Given the description of an element on the screen output the (x, y) to click on. 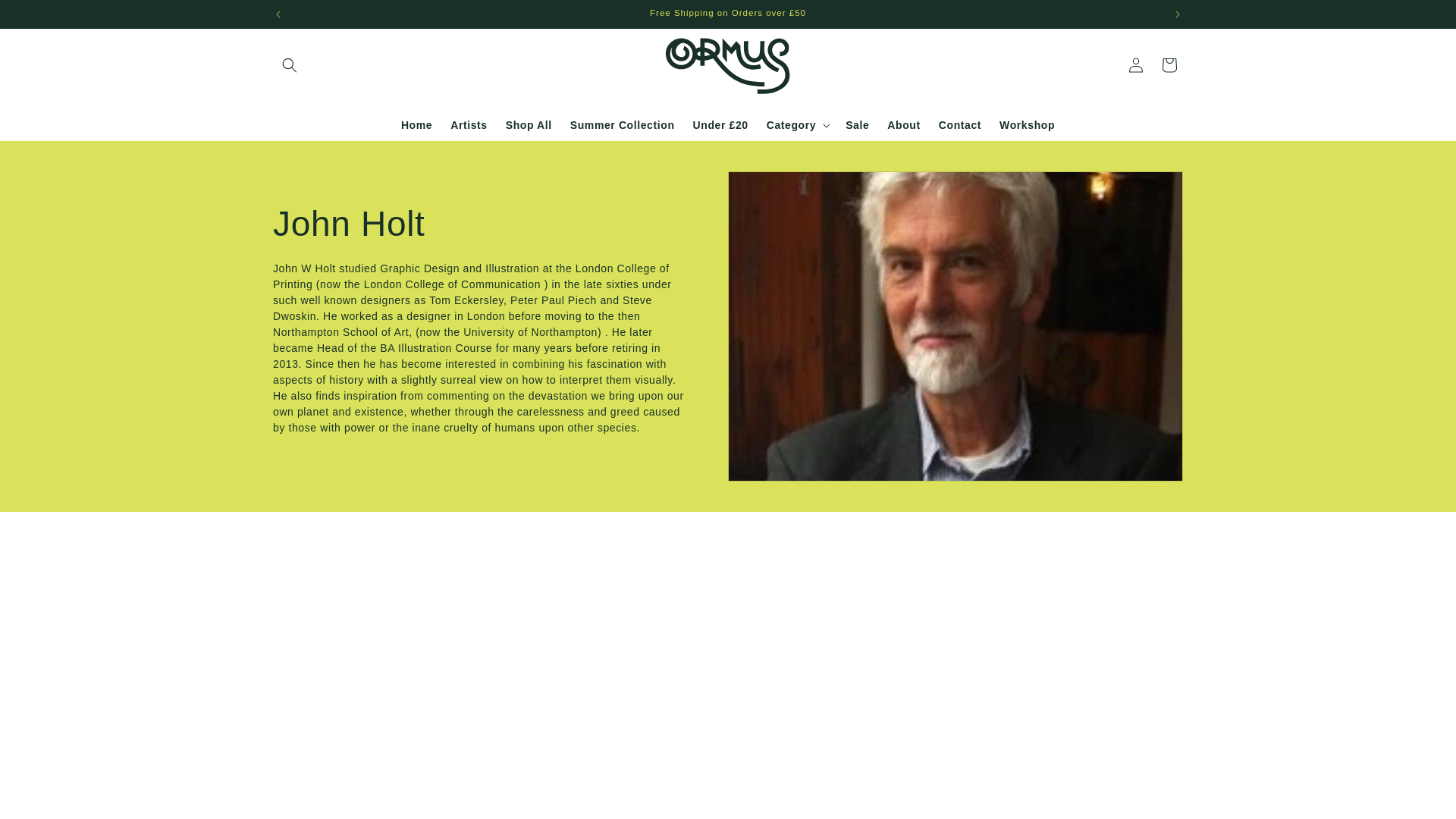
Summer Collection (622, 124)
Home (416, 124)
Skip to content (45, 17)
Shop All (528, 124)
Artists (468, 124)
